Given the description of an element on the screen output the (x, y) to click on. 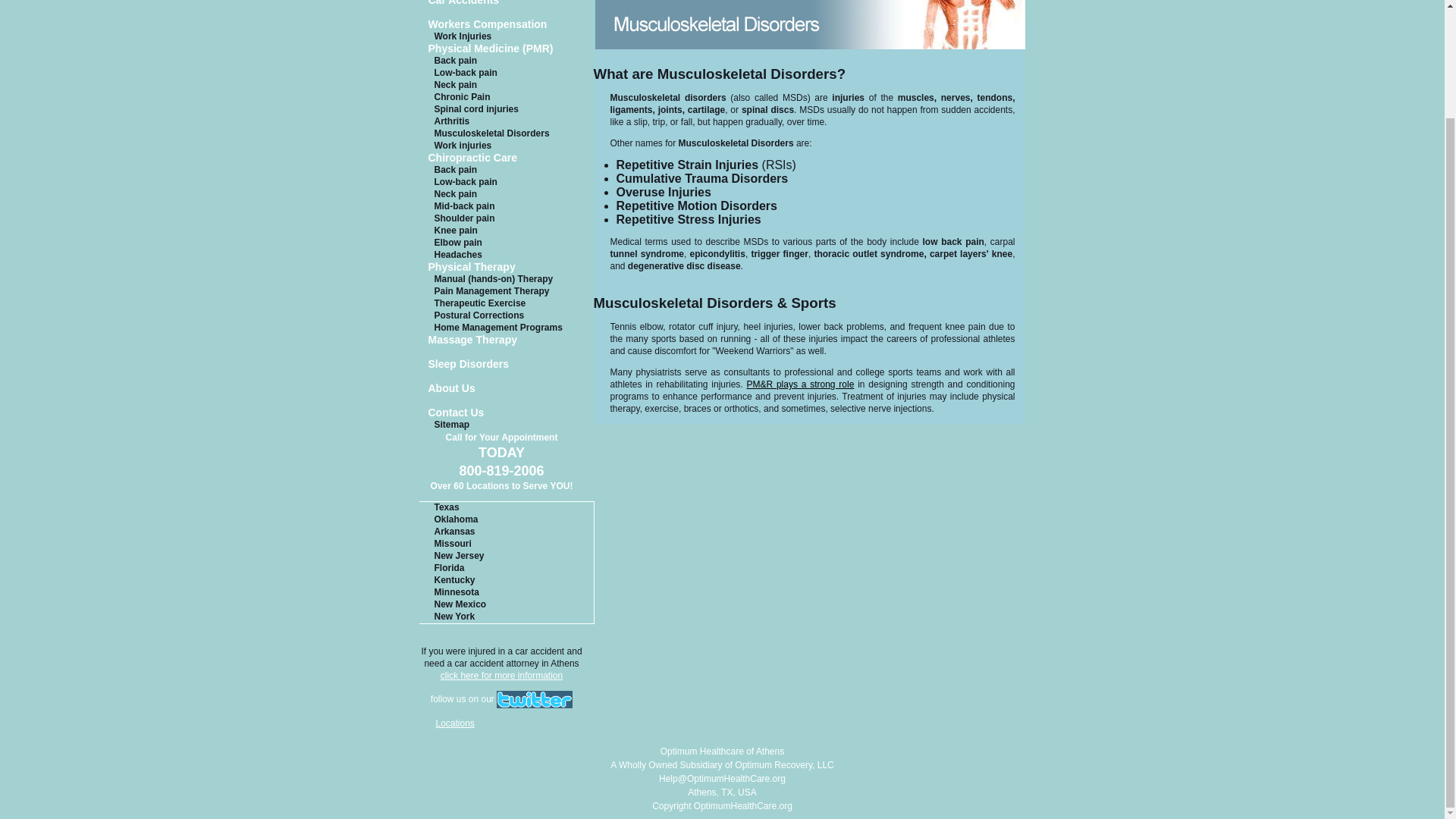
Postural Corrections (506, 316)
Locations (454, 723)
Neck pain (506, 85)
Sleep Disorders (506, 365)
Car Accidents (506, 4)
Workers Compensation (506, 25)
Musculoskeletal Disorders (506, 133)
Neck pain (506, 194)
